Given the description of an element on the screen output the (x, y) to click on. 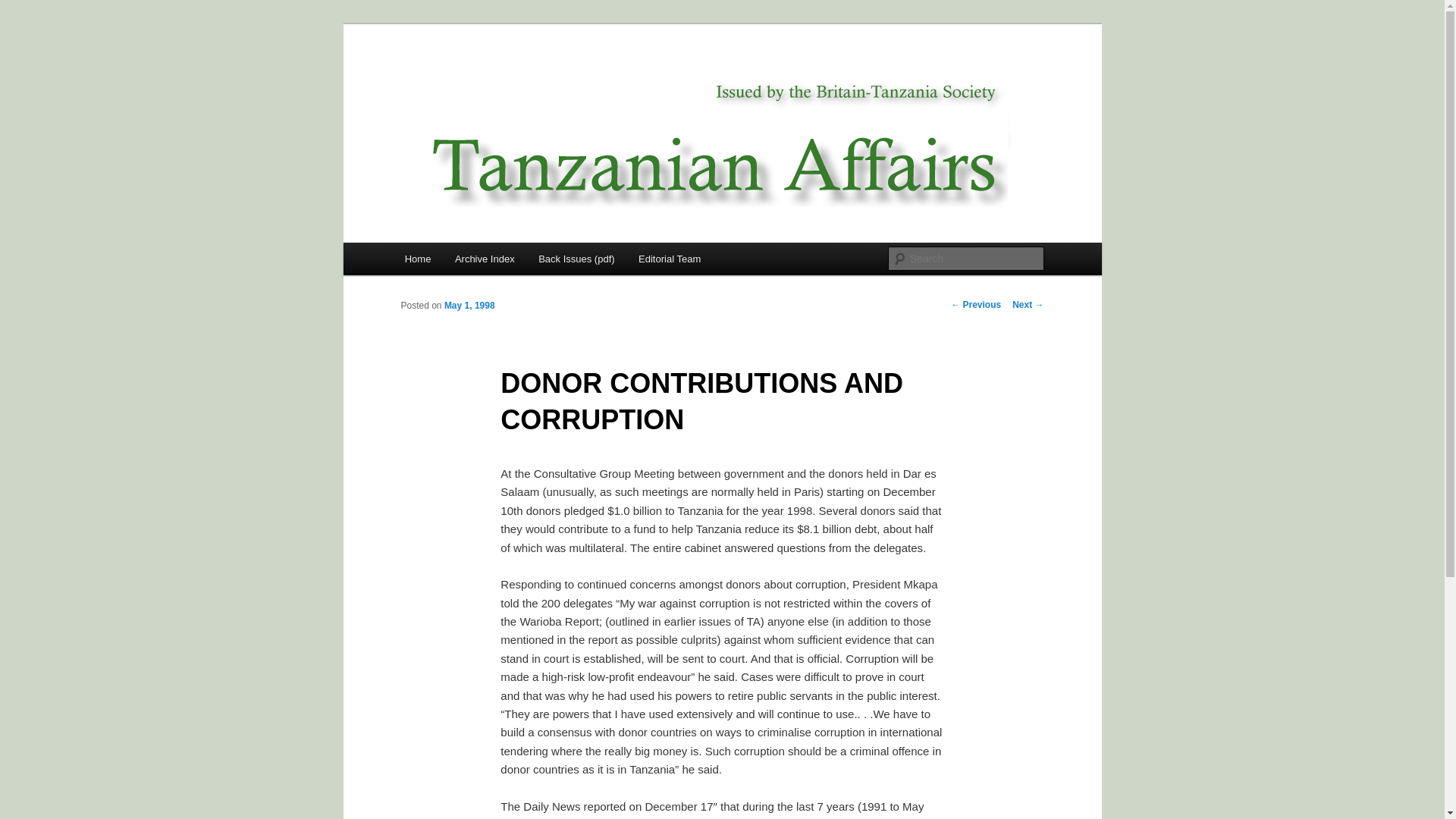
Search (24, 8)
Tanzanian Affairs (494, 78)
Home (417, 258)
Editorial Team (669, 258)
May 1, 1998 (469, 305)
Archive Index (483, 258)
